Given the description of an element on the screen output the (x, y) to click on. 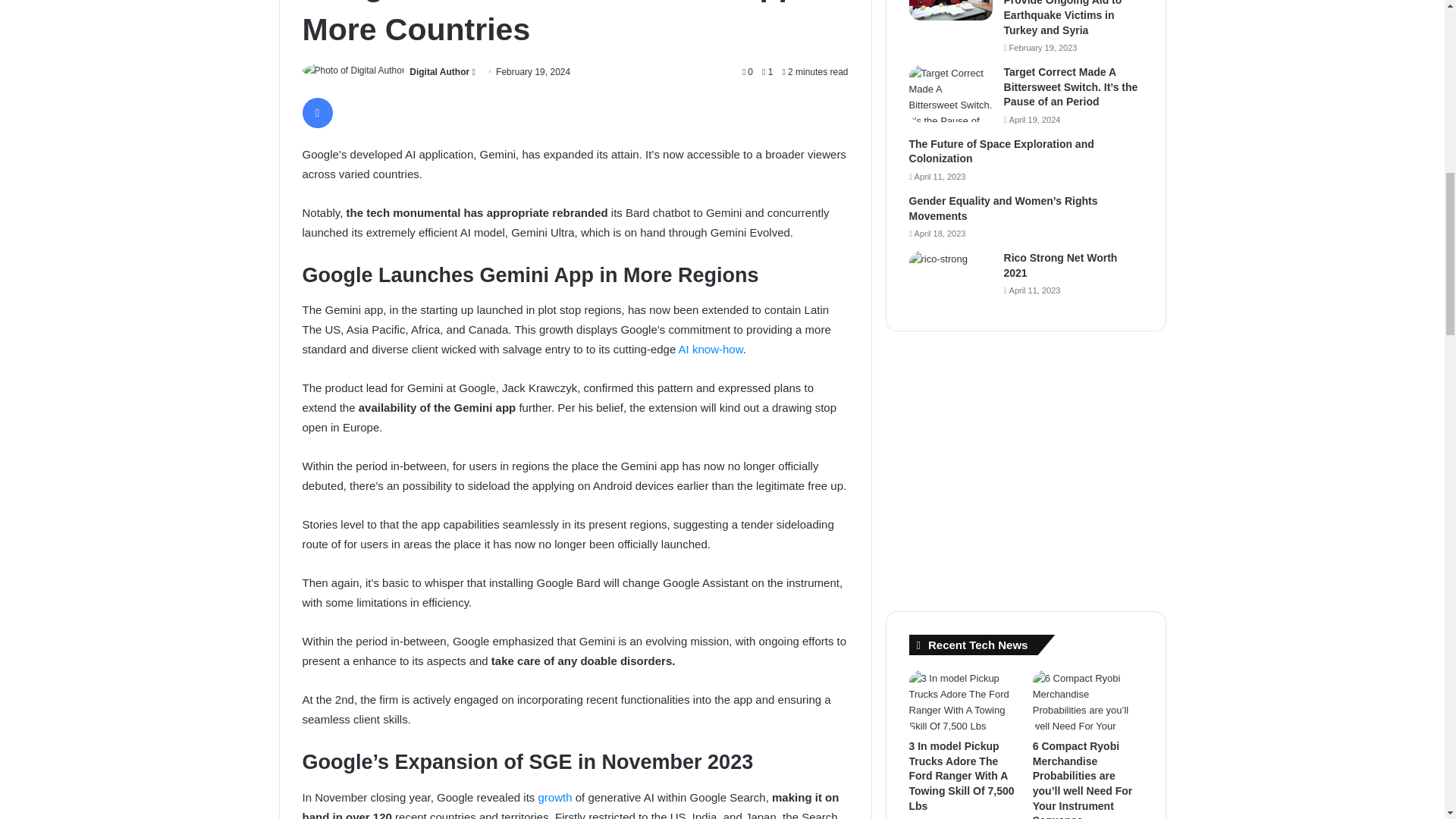
Facebook (316, 112)
growth (555, 797)
Digital Author (438, 71)
Facebook (316, 112)
AI know-how (710, 349)
Digital Author (438, 71)
